Given the description of an element on the screen output the (x, y) to click on. 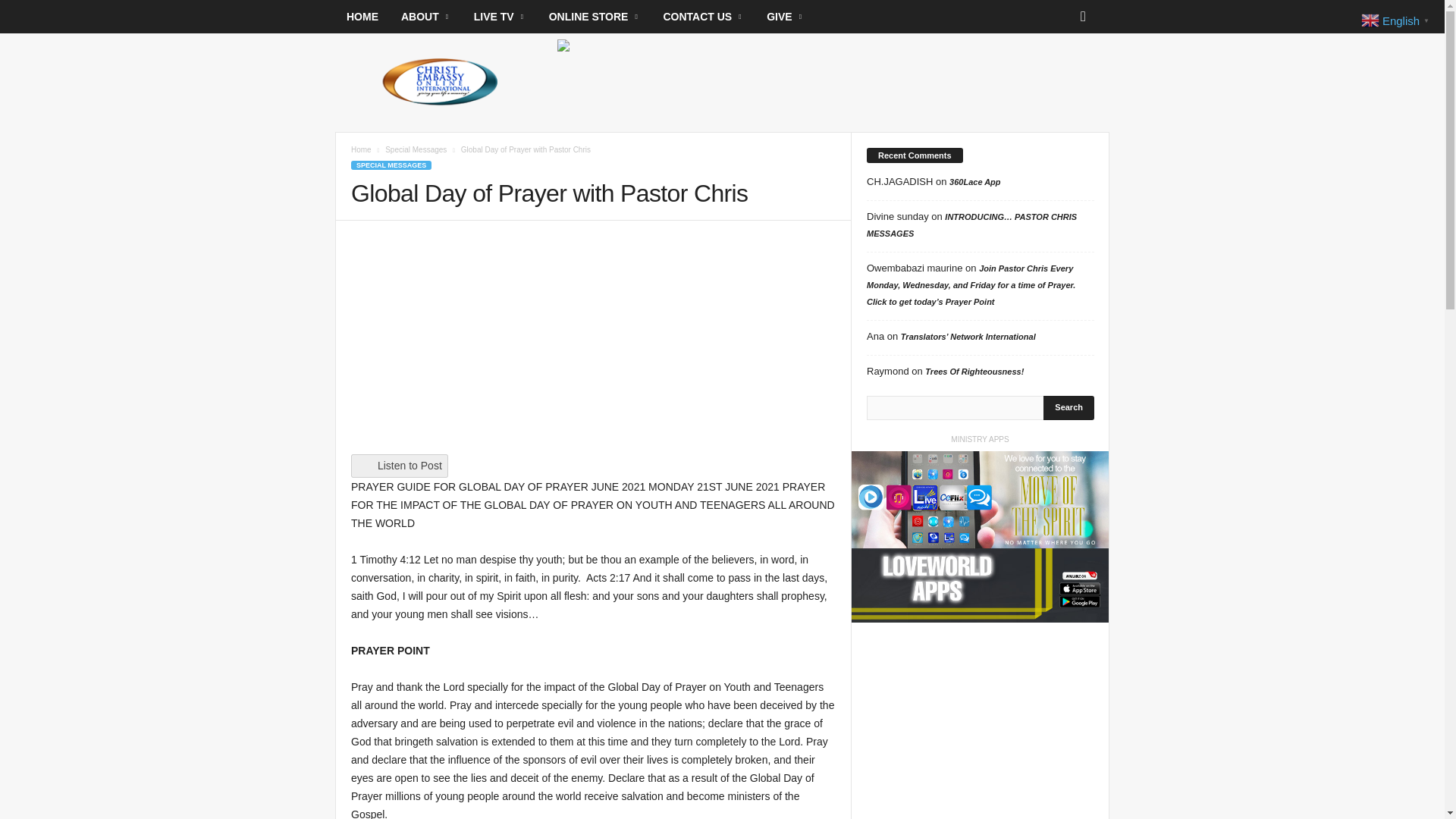
Search (1068, 407)
View all posts in Special Messages (415, 149)
ONLINE STORE (594, 16)
CONTACT US (702, 16)
HOME (362, 16)
ABOUT (426, 16)
LIVE TV (500, 16)
